Given the description of an element on the screen output the (x, y) to click on. 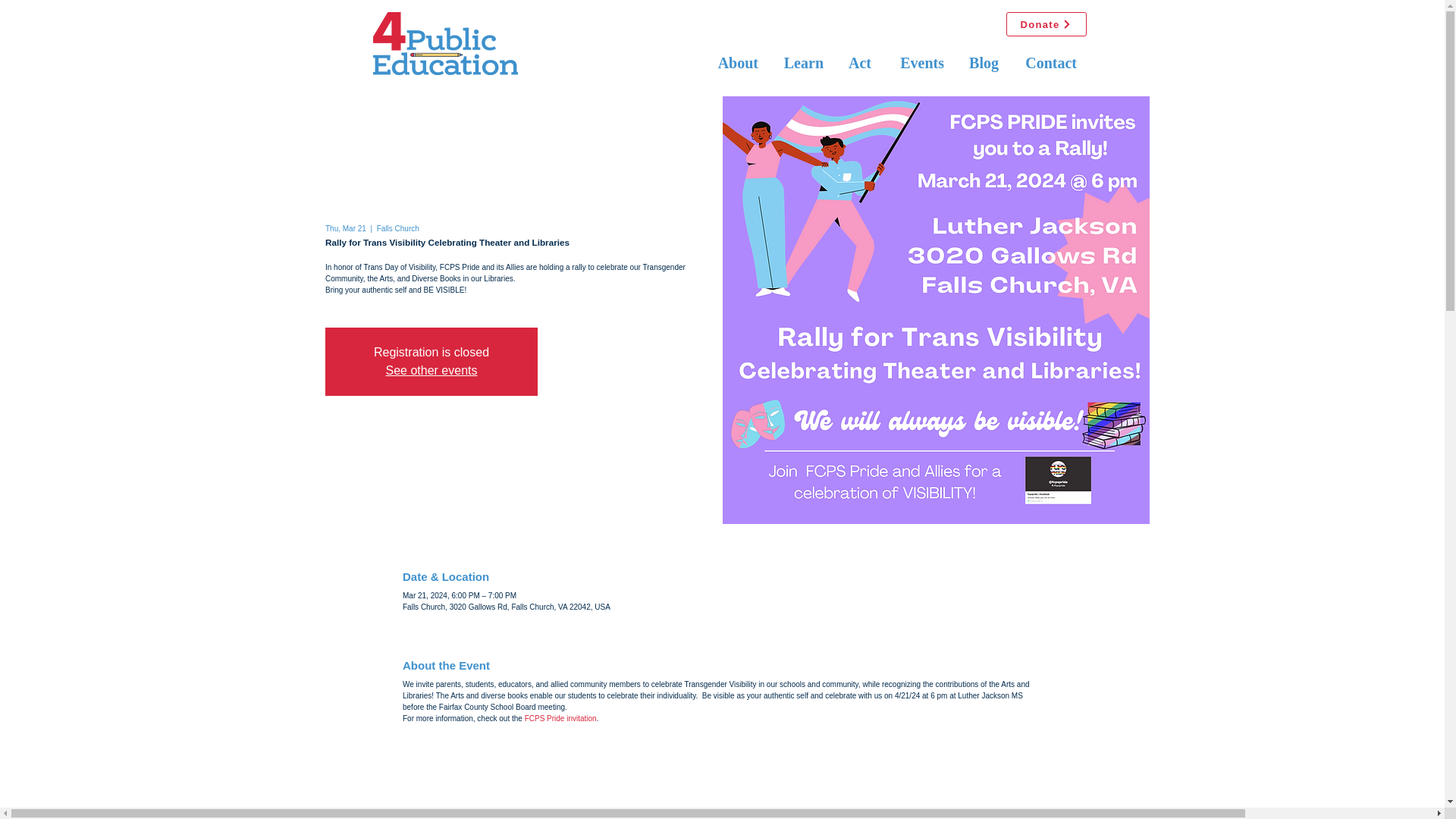
Donate (1046, 24)
Map (721, 787)
FCPS Pride invitation (560, 718)
Act (858, 62)
About (736, 62)
See other events (431, 369)
Blog (982, 62)
Events (918, 62)
Learn (802, 62)
Contact (1048, 62)
